Given the description of an element on the screen output the (x, y) to click on. 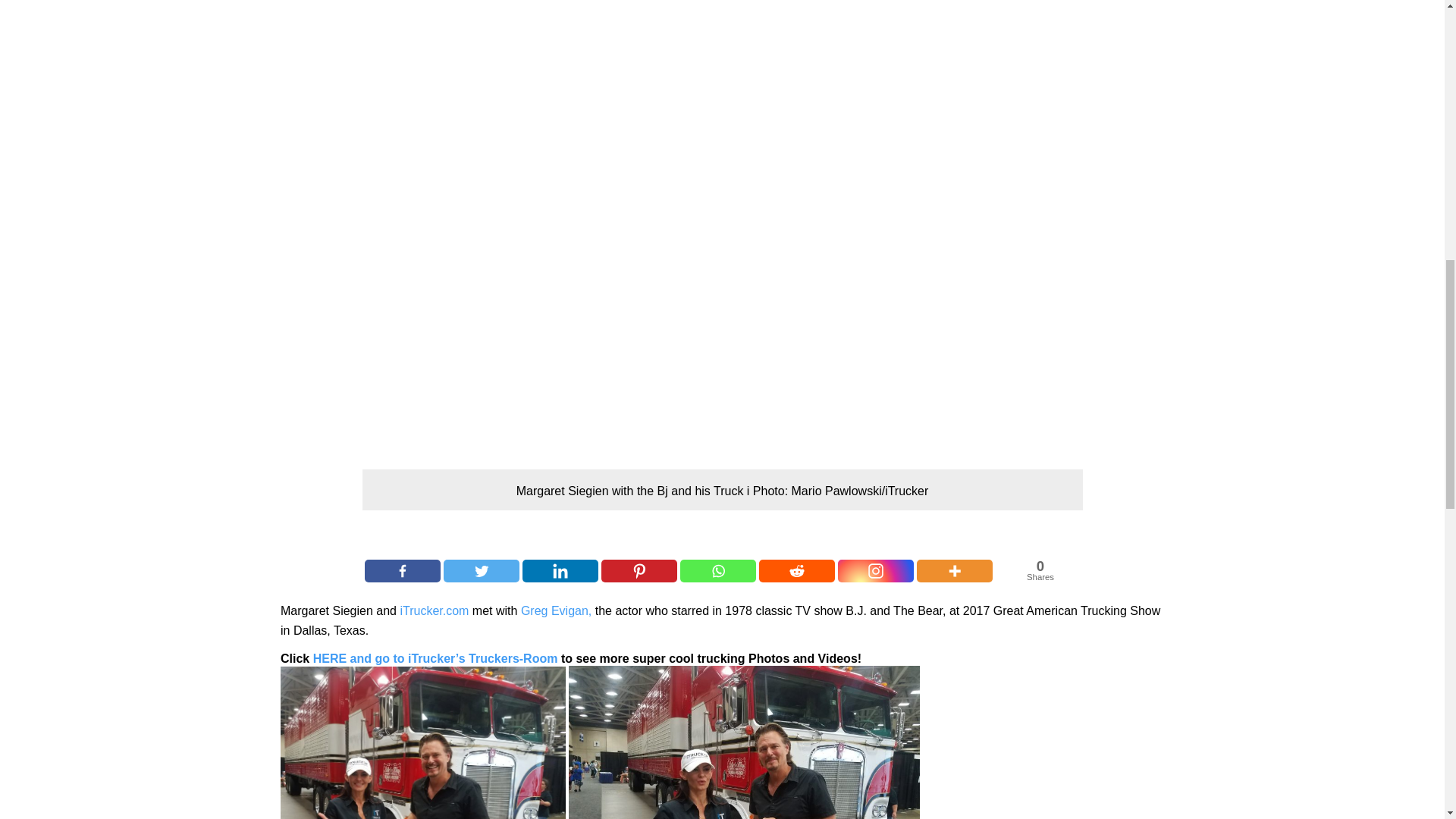
Linkedin (560, 570)
Greg Evigan, (556, 610)
Twitter (481, 570)
Instagram (876, 570)
iTrucker.com (433, 610)
Facebook (1037, 570)
Pinterest (403, 570)
Whatsapp (639, 570)
Reddit (717, 570)
